Given the description of an element on the screen output the (x, y) to click on. 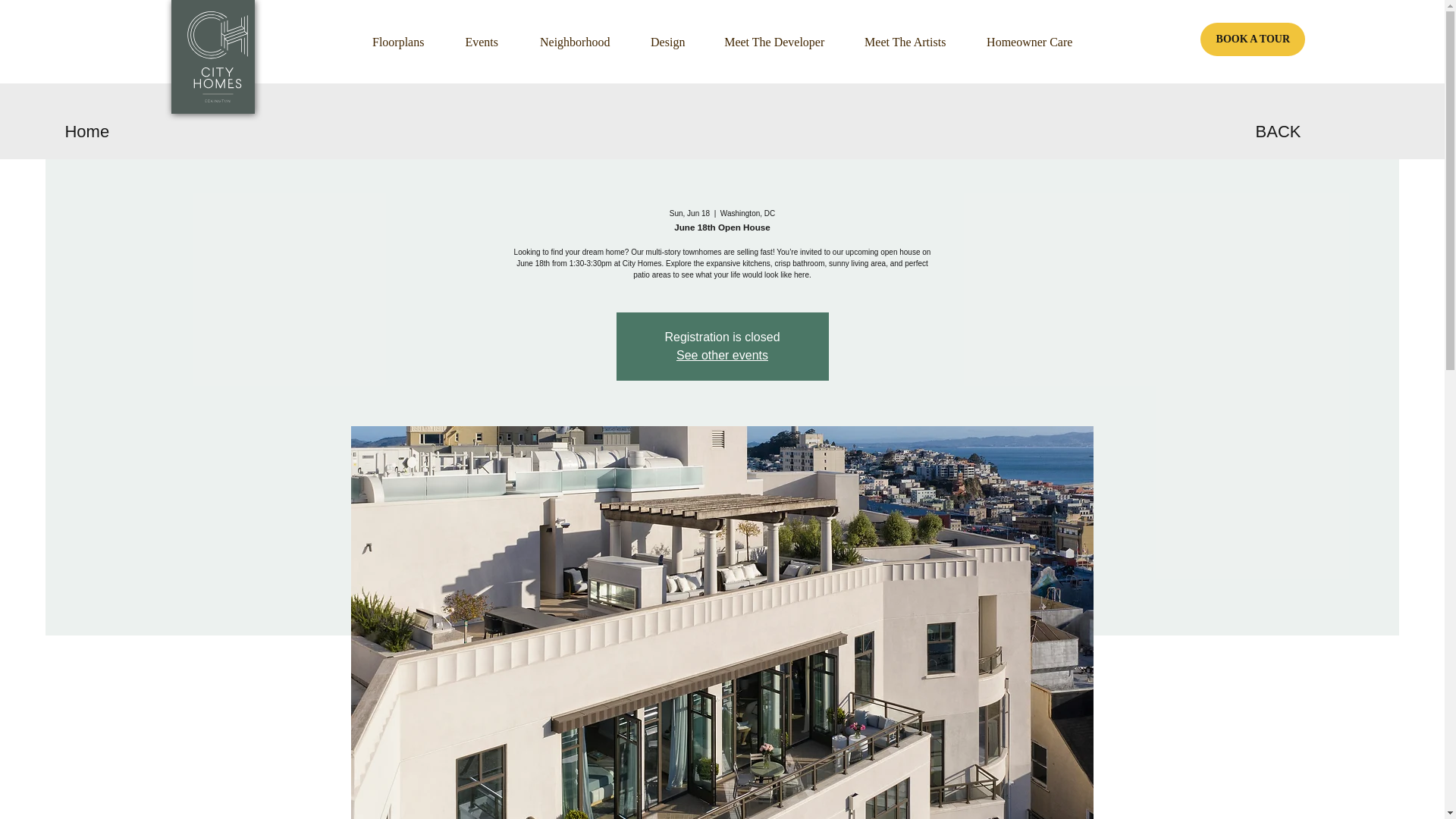
Meet The Developer (774, 41)
Floorplans (398, 41)
Events (481, 41)
Home (126, 132)
Neighborhood (574, 41)
Meet The Artists (905, 41)
BACK (1317, 132)
Design (667, 41)
Homeowner Care (1029, 41)
See other events (722, 354)
